Given the description of an element on the screen output the (x, y) to click on. 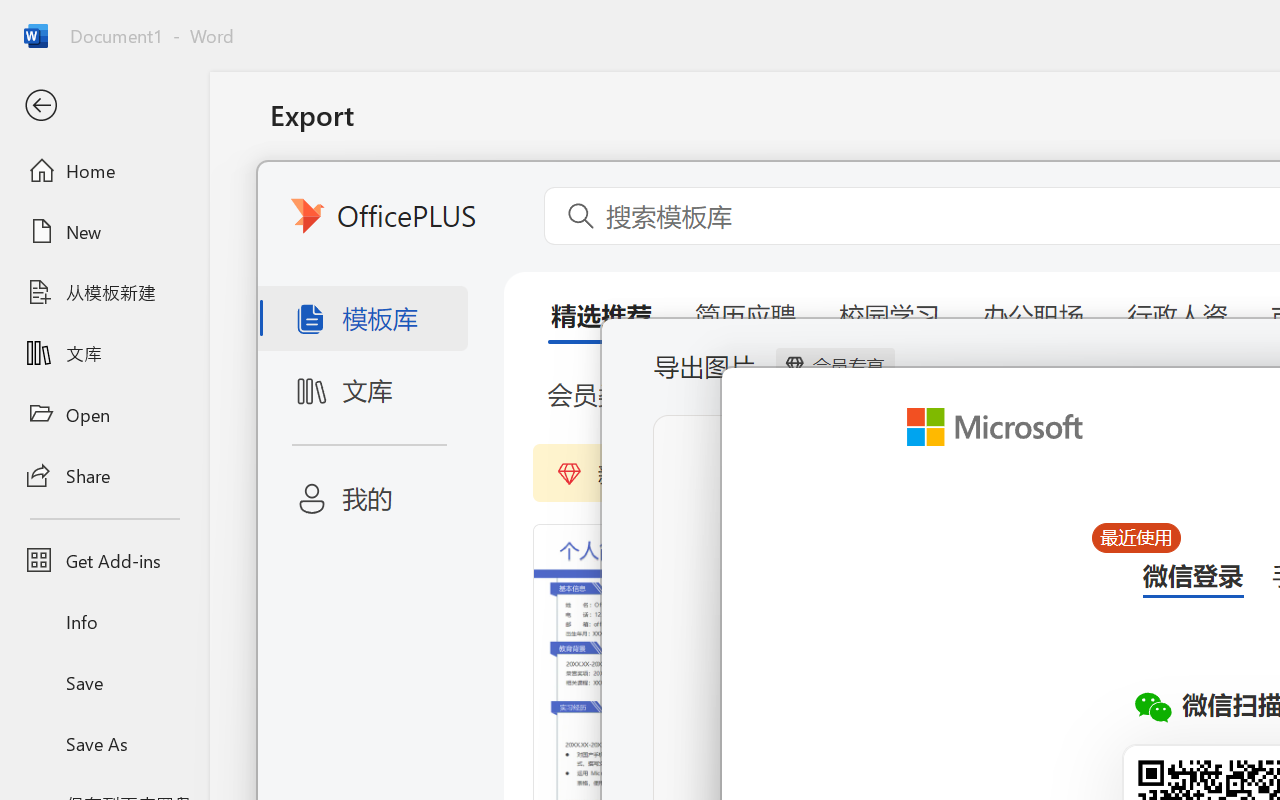
Save As (104, 743)
Create PDF/XPS Document (507, 205)
Info (104, 621)
